Given the description of an element on the screen output the (x, y) to click on. 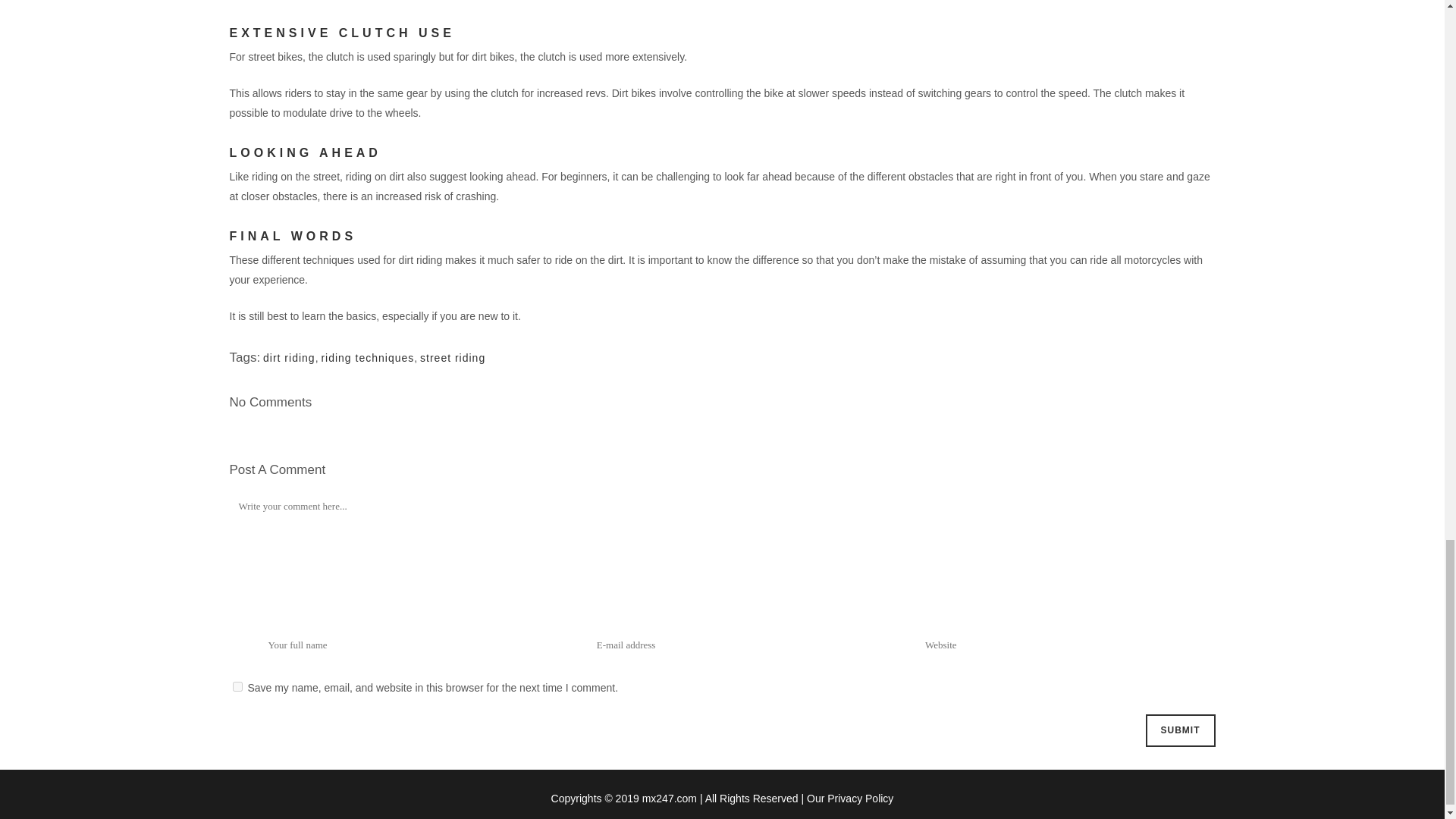
street riding (452, 357)
Submit (1179, 730)
Our Privacy Policy (849, 798)
riding techniques (366, 357)
dirt riding (289, 357)
Submit (1179, 730)
yes (236, 686)
